Given the description of an element on the screen output the (x, y) to click on. 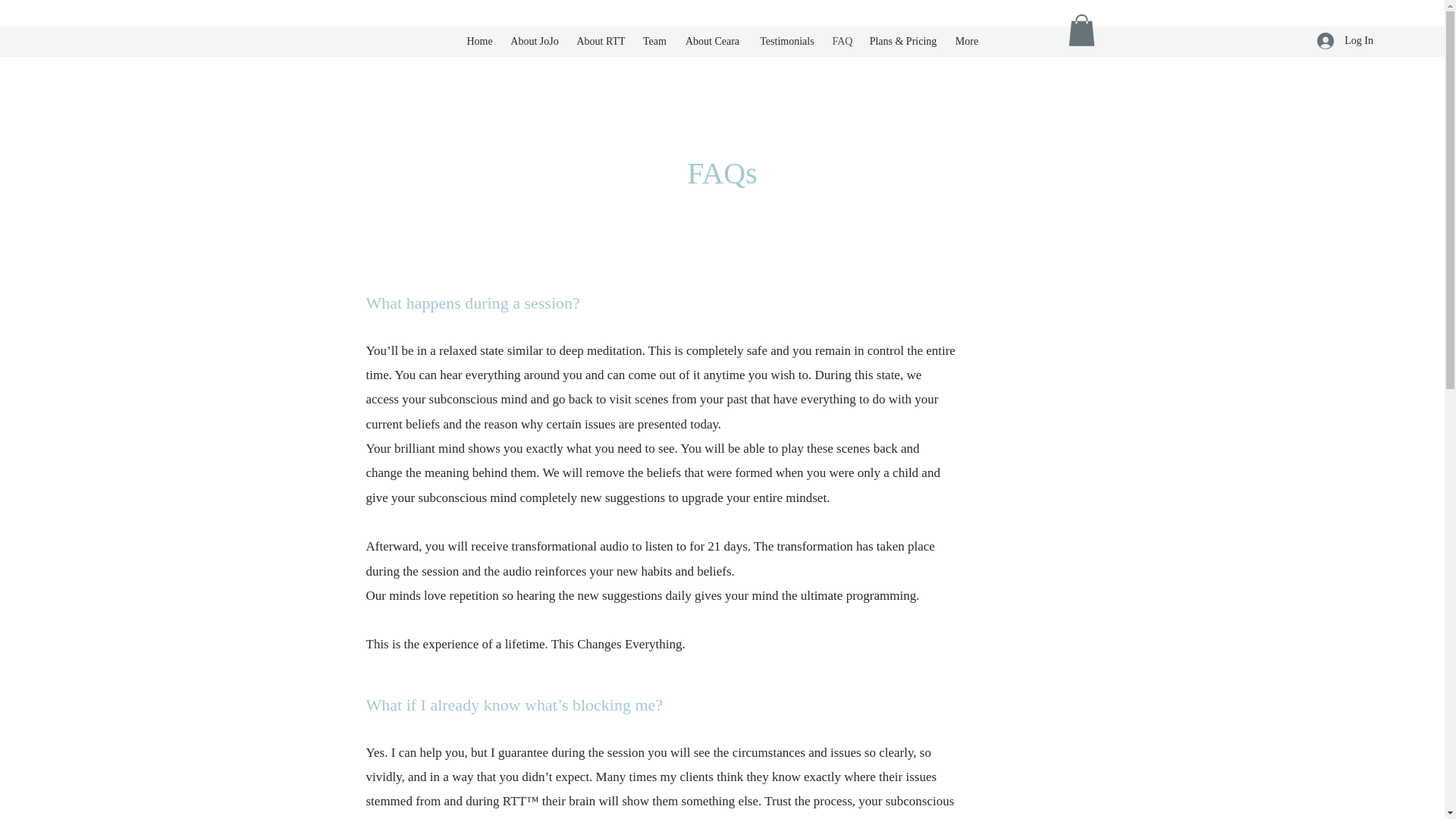
Home (478, 41)
Log In (1345, 40)
About RTT (600, 41)
About Ceara (712, 41)
FAQ (841, 41)
About JoJo (533, 41)
Team (654, 41)
Testimonials (786, 41)
